Given the description of an element on the screen output the (x, y) to click on. 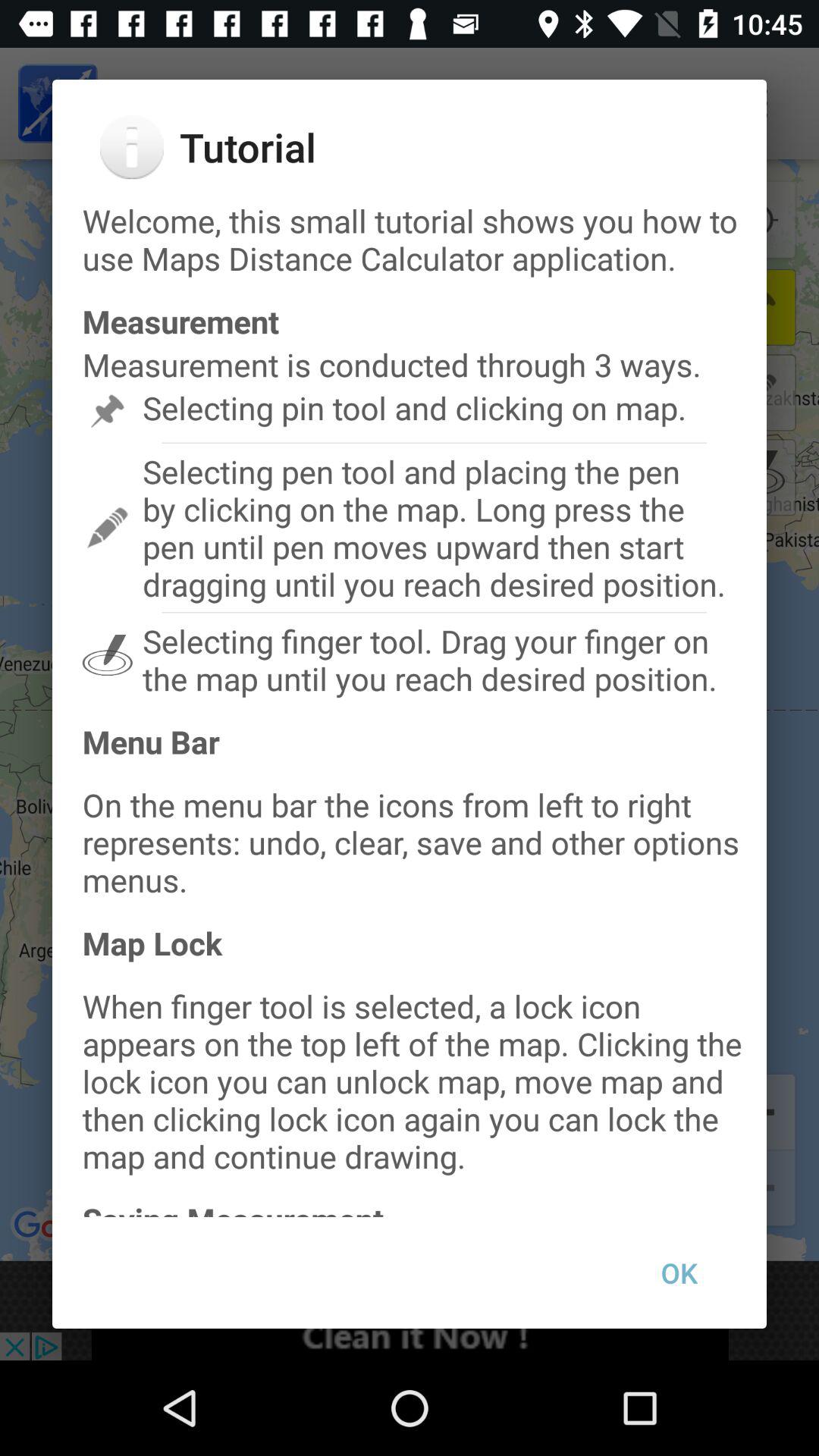
tap the item below the saving measurement item (678, 1272)
